Given the description of an element on the screen output the (x, y) to click on. 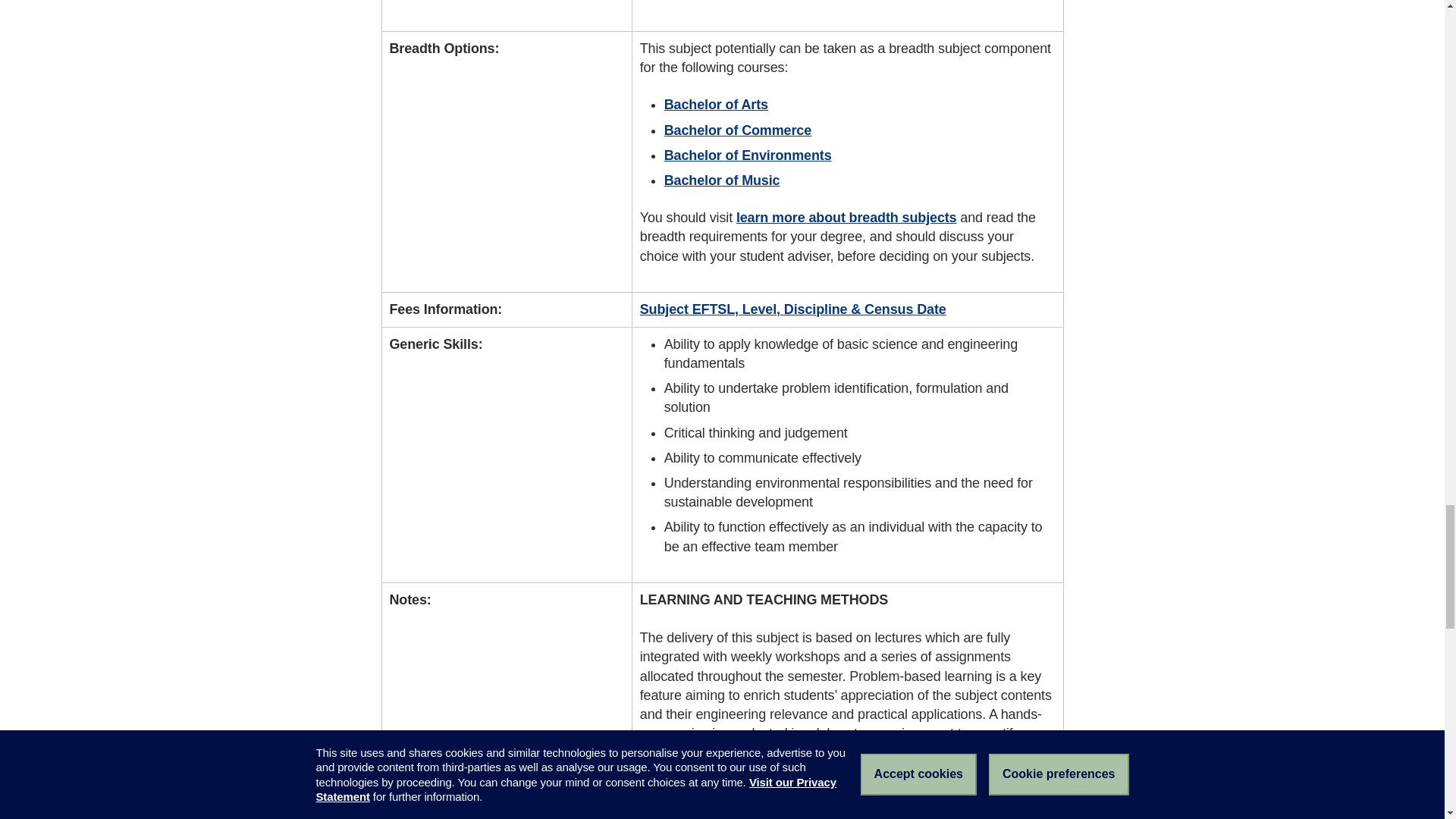
learn more about breadth subjects (846, 217)
Bachelor of Arts (715, 104)
Bachelor of Environments (747, 155)
Bachelor of Music (721, 180)
Bachelor of Commerce (736, 130)
